Given the description of an element on the screen output the (x, y) to click on. 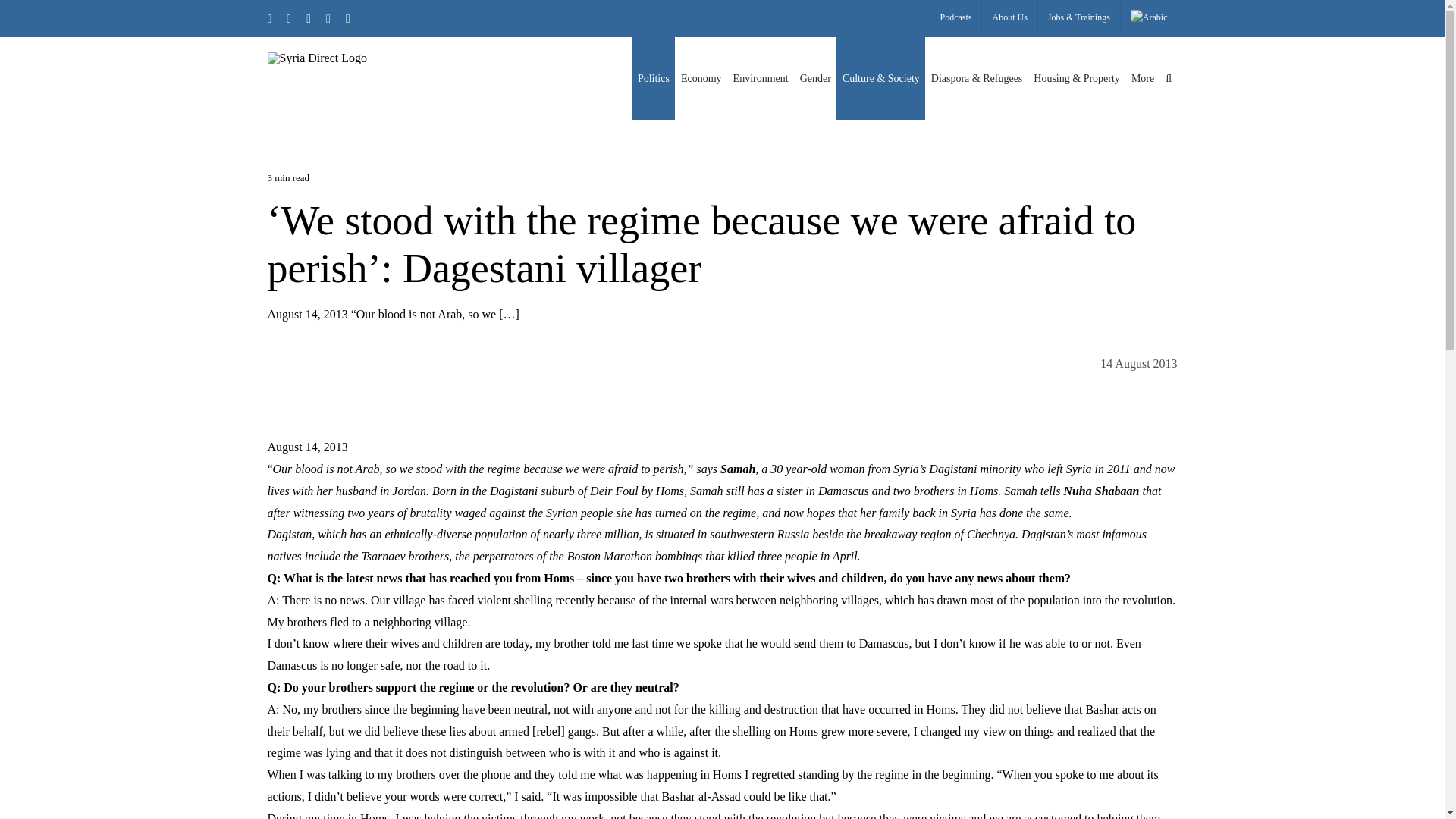
About Us (1008, 18)
More (1141, 77)
Instagram (308, 18)
YouTube (348, 18)
X (268, 18)
SoundCloud (328, 18)
Facebook (288, 18)
Economy (700, 77)
Instagram (308, 18)
Podcasts (955, 18)
X (268, 18)
YouTube (348, 18)
Politics (653, 77)
Search (1168, 77)
SoundCloud (328, 18)
